Given the description of an element on the screen output the (x, y) to click on. 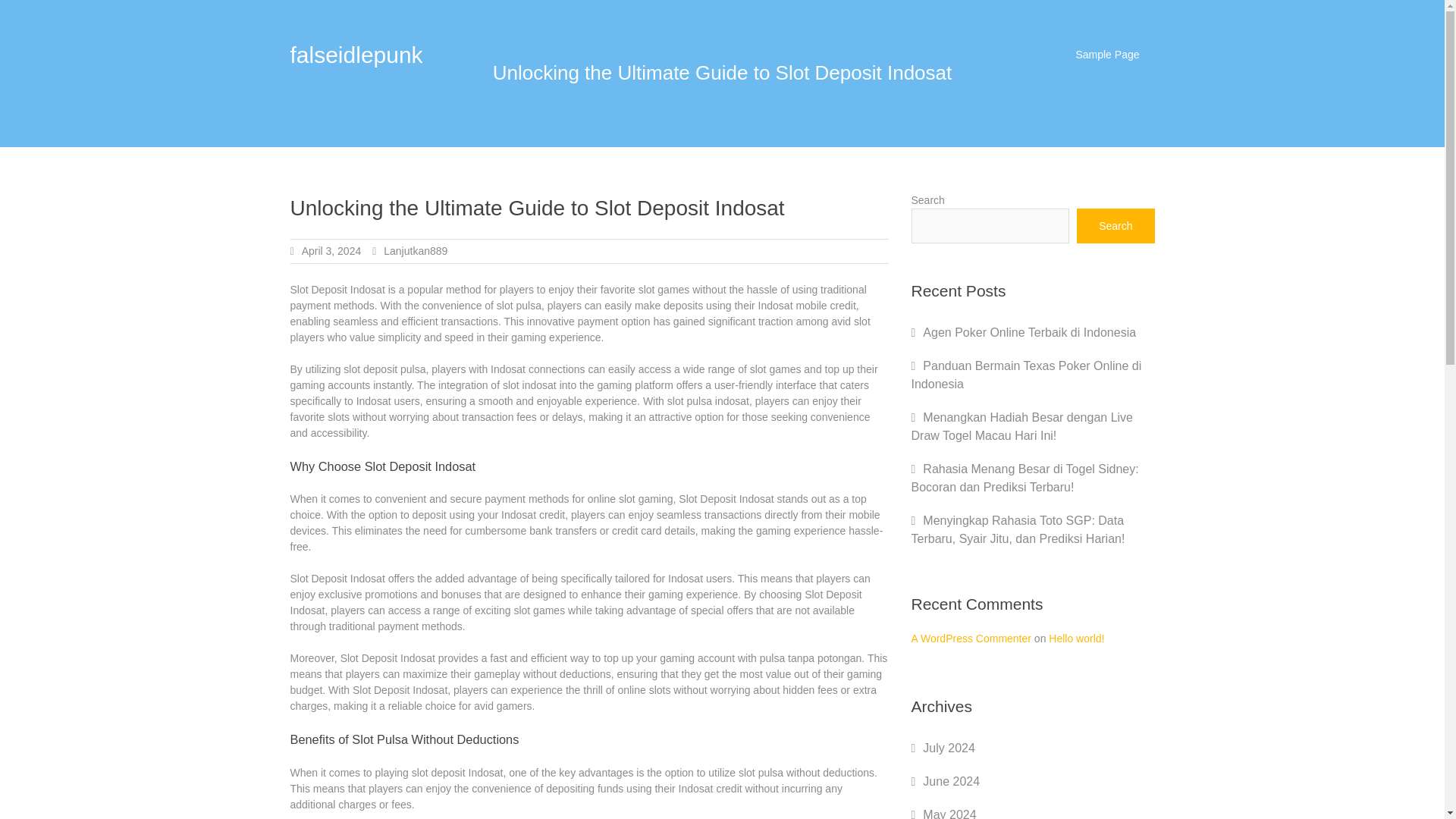
falseidlepunk (355, 54)
Panduan Bermain Texas Poker Online di Indonesia (1026, 374)
Agen Poker Online Terbaik di Indonesia (1029, 332)
April 3, 2024 (331, 250)
Sample Page (1106, 55)
July 2024 (949, 748)
Search (1115, 225)
June 2024 (951, 780)
Lanjutkan889 (415, 250)
A WordPress Commenter (970, 638)
May 2024 (949, 813)
Hello world! (1075, 638)
